Given the description of an element on the screen output the (x, y) to click on. 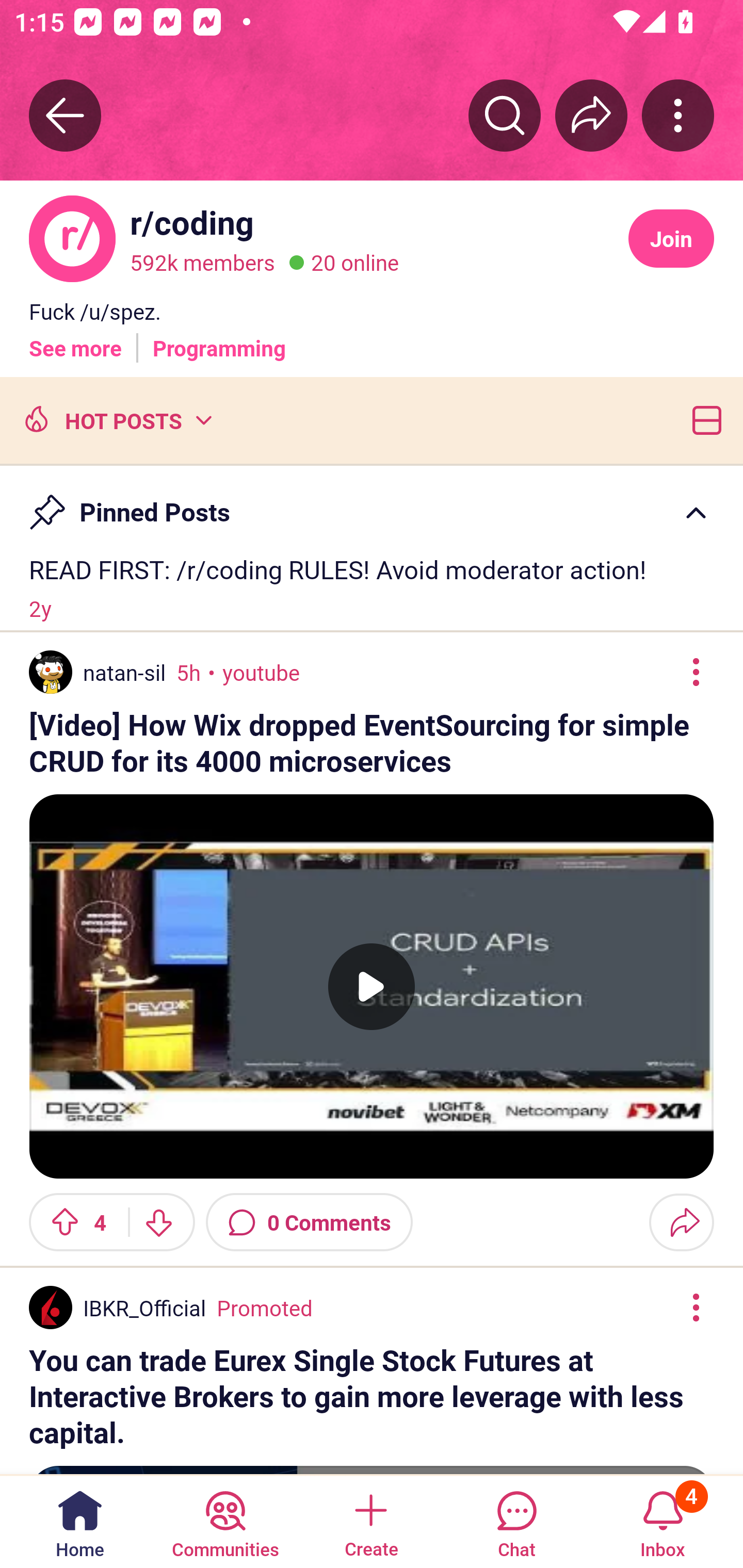
Back (64, 115)
Search r/﻿coding (504, 115)
Share r/﻿coding (591, 115)
More community actions (677, 115)
See more (74, 340)
Programming (219, 340)
Hot posts HOT POSTS (116, 419)
Card (703, 419)
Pin Pinned Posts Caret (371, 503)
Home (80, 1520)
Communities (225, 1520)
Create a post Create (370, 1520)
Chat (516, 1520)
Inbox, has 4 notifications 4 Inbox (662, 1520)
